Given the description of an element on the screen output the (x, y) to click on. 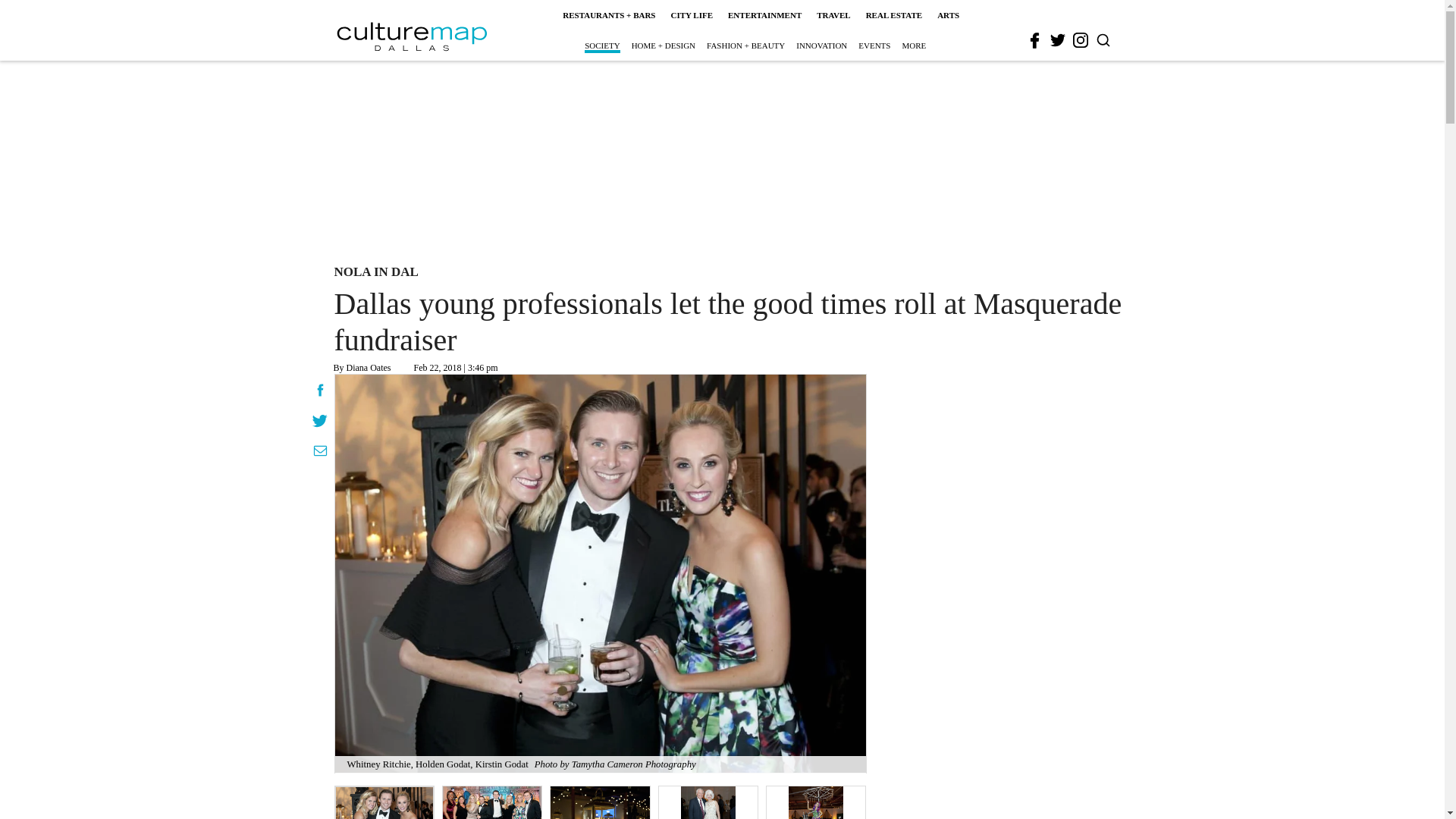
3rd party ad content (721, 160)
